Given the description of an element on the screen output the (x, y) to click on. 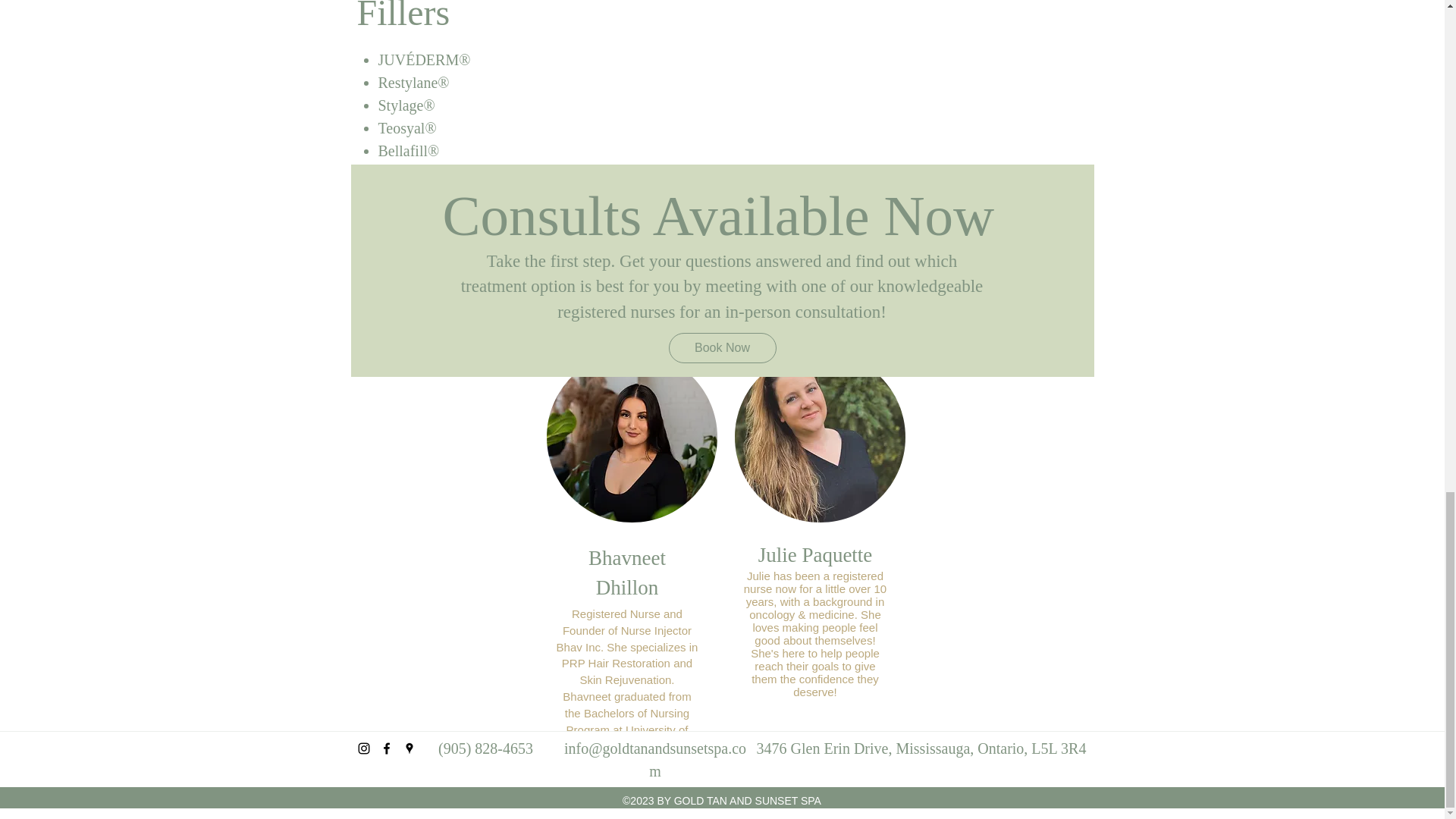
Nurse Bhavneet (631, 437)
Nurse Julie (818, 437)
